Given the description of an element on the screen output the (x, y) to click on. 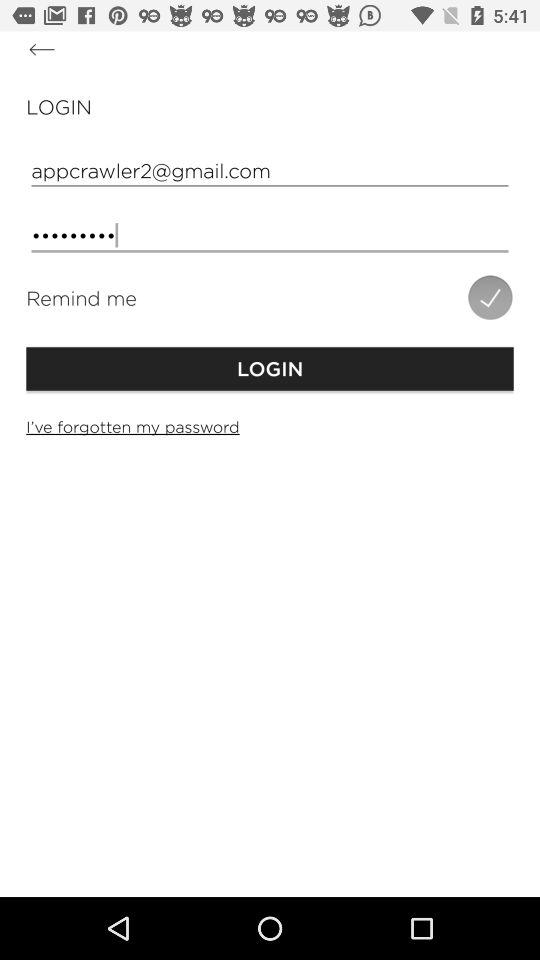
scroll until i ve forgotten item (269, 426)
